Given the description of an element on the screen output the (x, y) to click on. 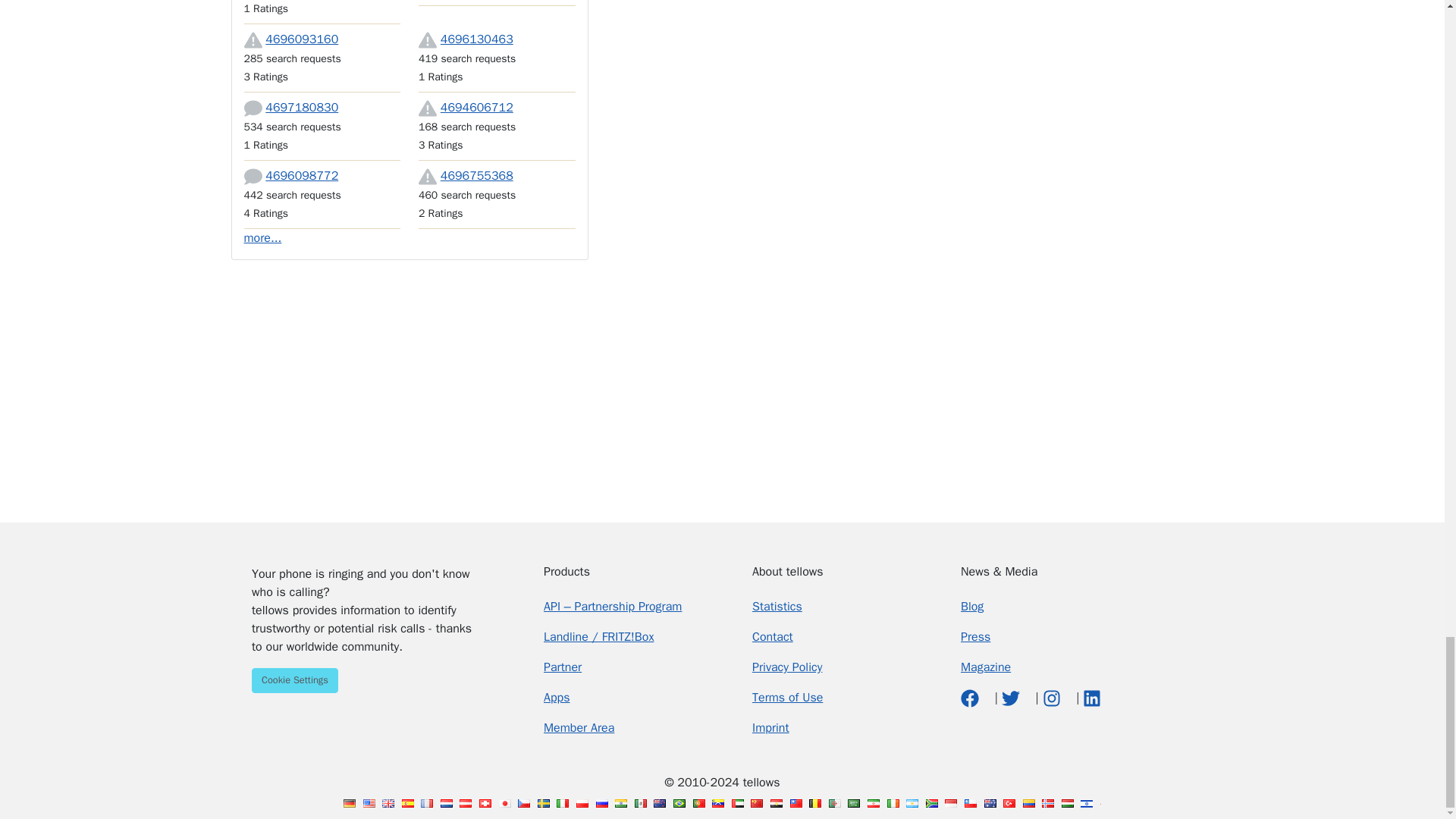
Presse (975, 636)
tellows Austria (465, 803)
twitter (1012, 697)
tellows Germany (349, 803)
tellows Spain (407, 803)
Instagram (1053, 697)
tellows France (426, 803)
Blog (972, 606)
Magazin (985, 667)
tellows USA (368, 803)
